Given the description of an element on the screen output the (x, y) to click on. 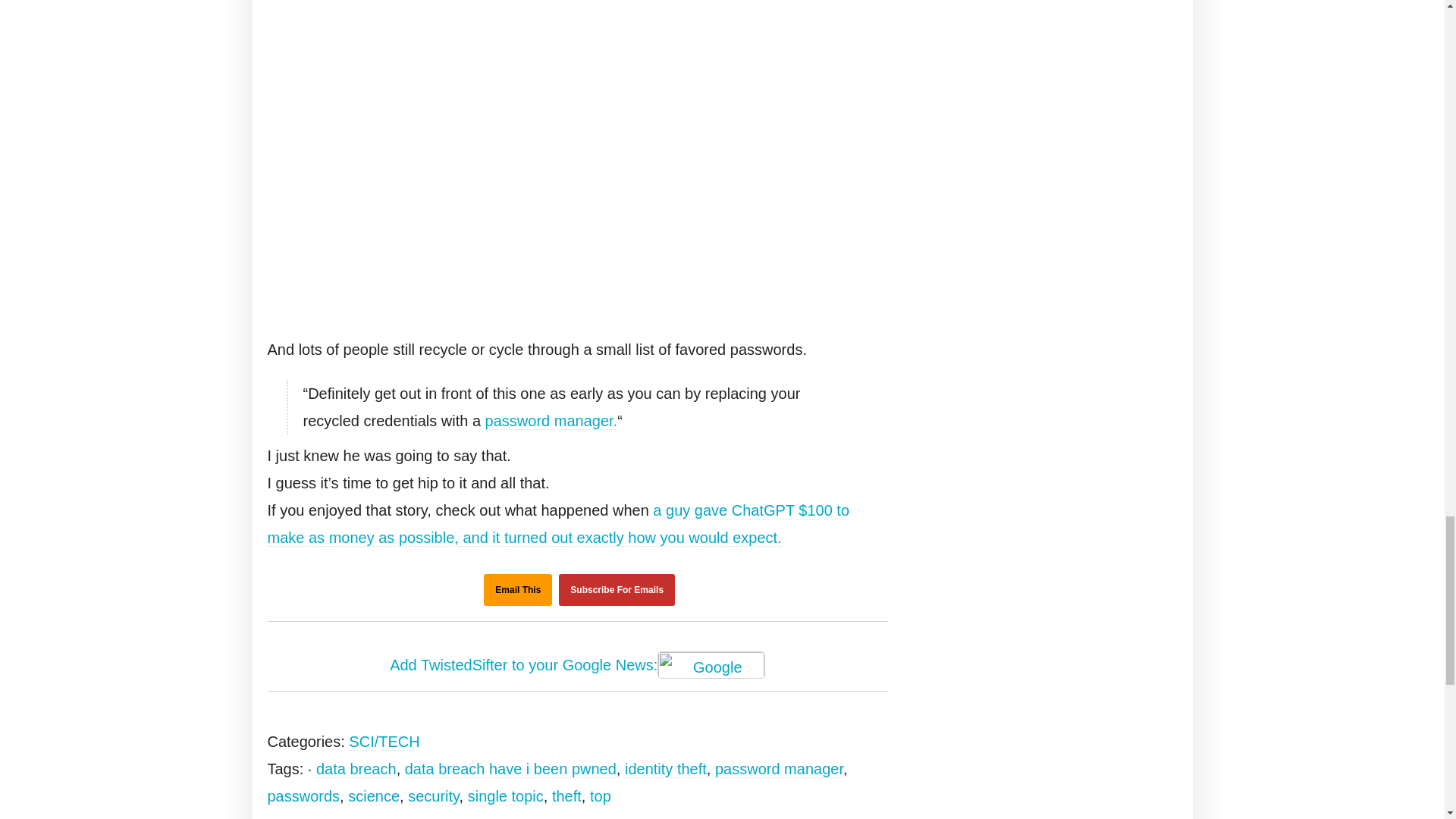
Subscribe For Emails (617, 590)
Add TwistedSifter to your Google News: (577, 666)
password manager. (550, 420)
data breach (355, 769)
Google News (711, 664)
Email This (517, 590)
